Given the description of an element on the screen output the (x, y) to click on. 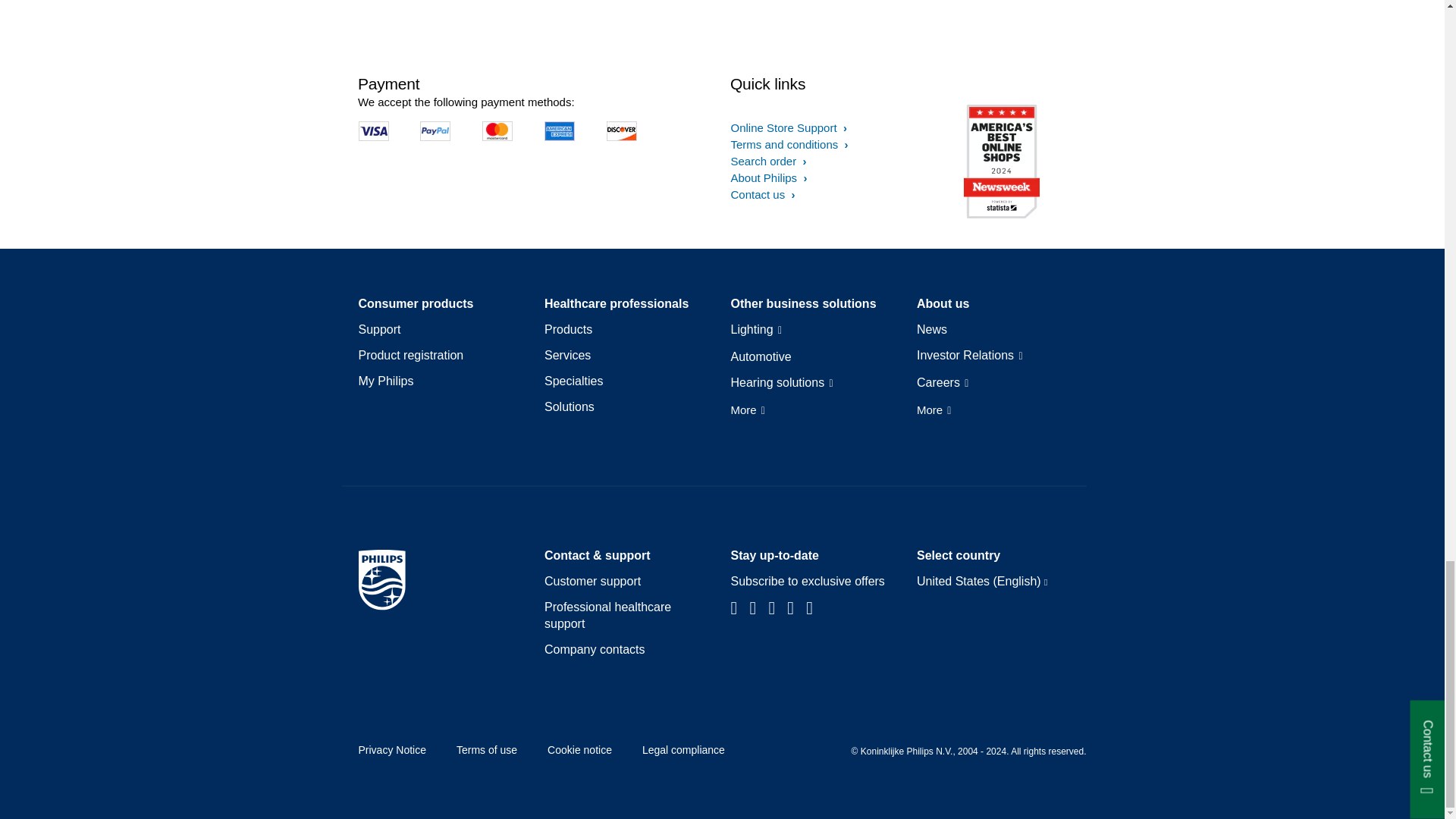
Product registration (410, 355)
Support (379, 329)
Consumer products (415, 303)
My Philips (385, 381)
Healthcare professionals (616, 303)
